Given the description of an element on the screen output the (x, y) to click on. 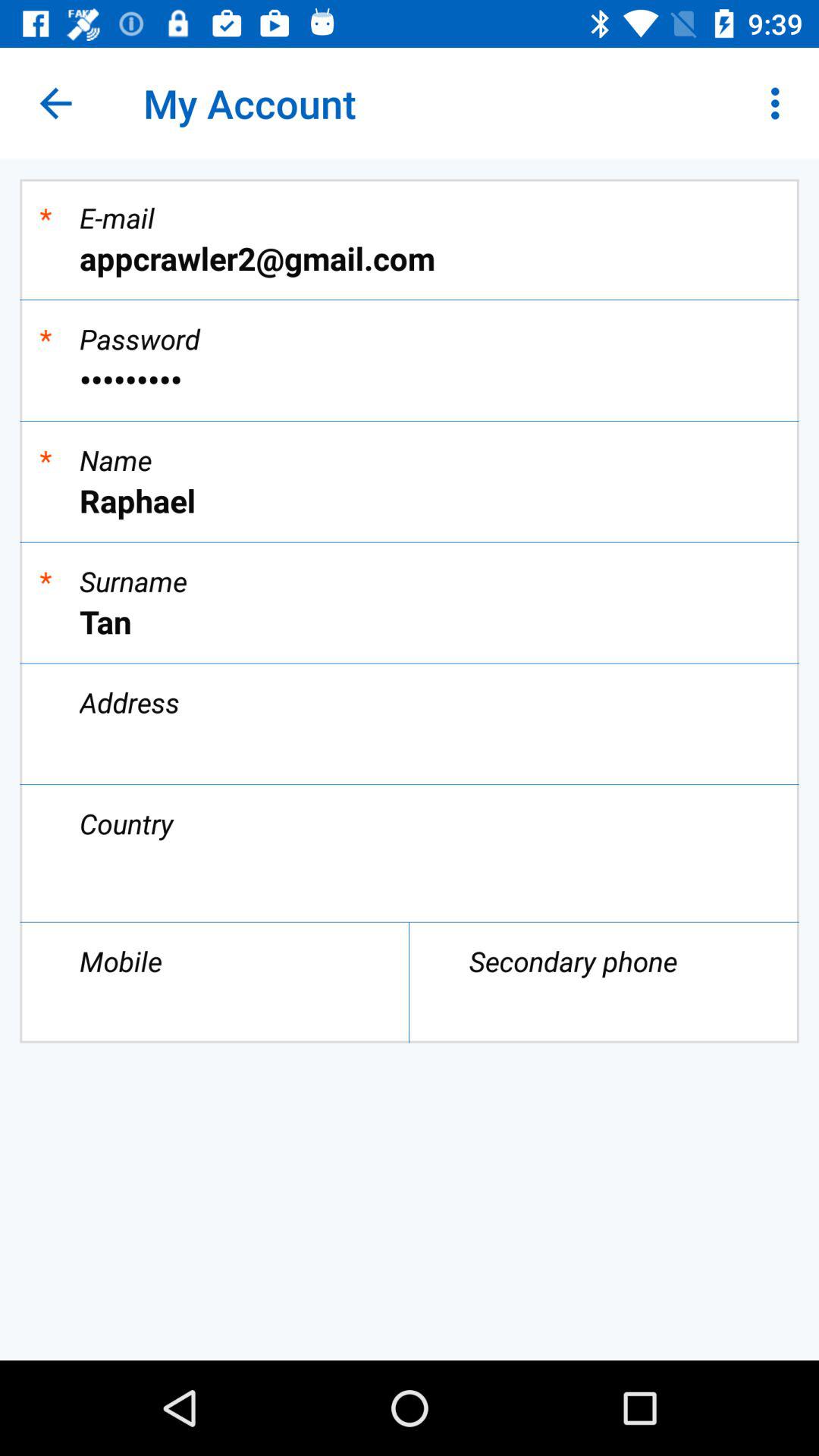
turn on item to the right of my account (779, 103)
